Given the description of an element on the screen output the (x, y) to click on. 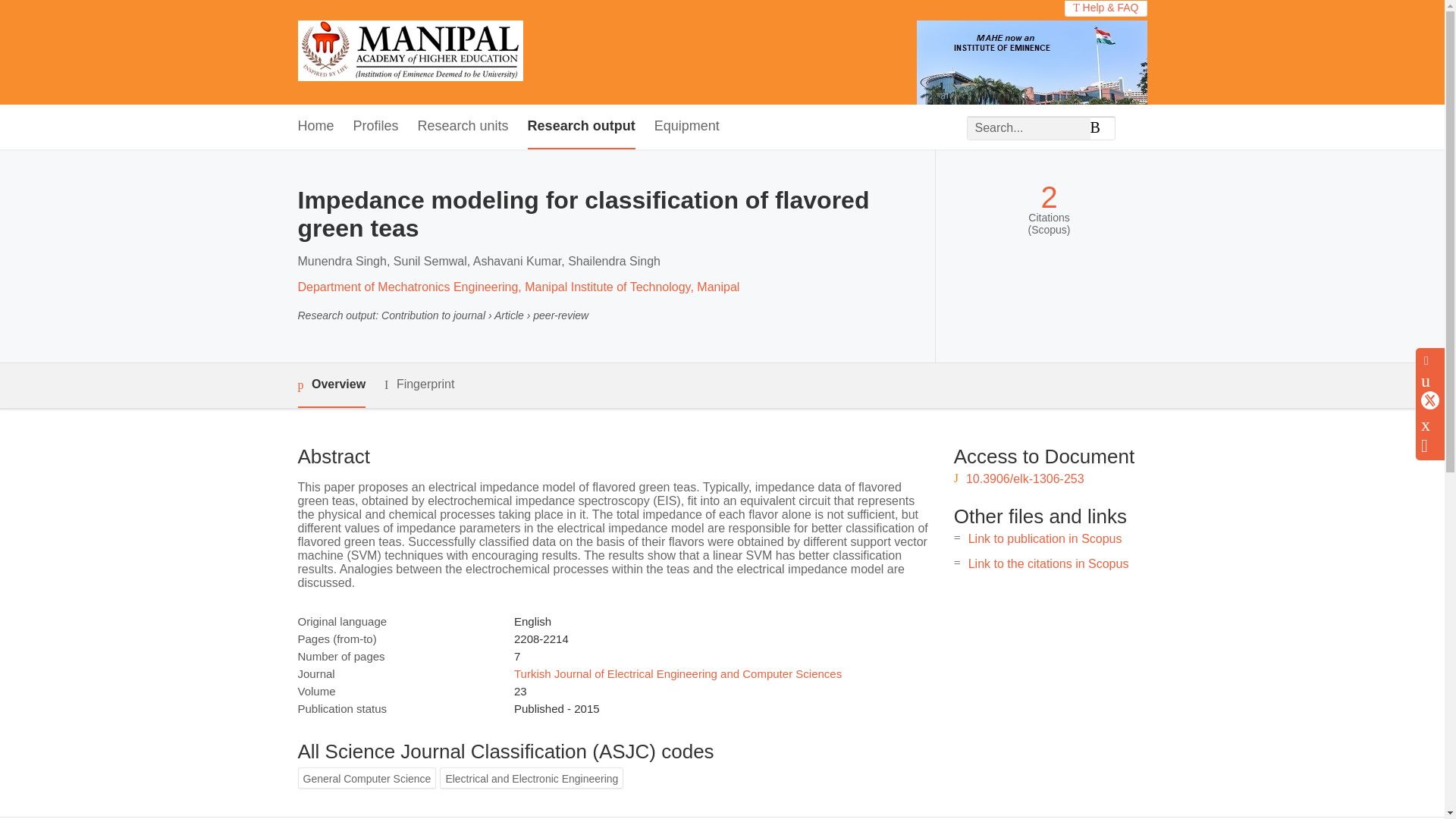
Equipment (686, 126)
Link to the citations in Scopus (1048, 563)
Research units (462, 126)
Link to publication in Scopus (1045, 538)
Research output (580, 126)
Overview (331, 385)
Profiles (375, 126)
Fingerprint (419, 384)
Manipal Academy of Higher Education, Manipal, India Home (409, 52)
